Given the description of an element on the screen output the (x, y) to click on. 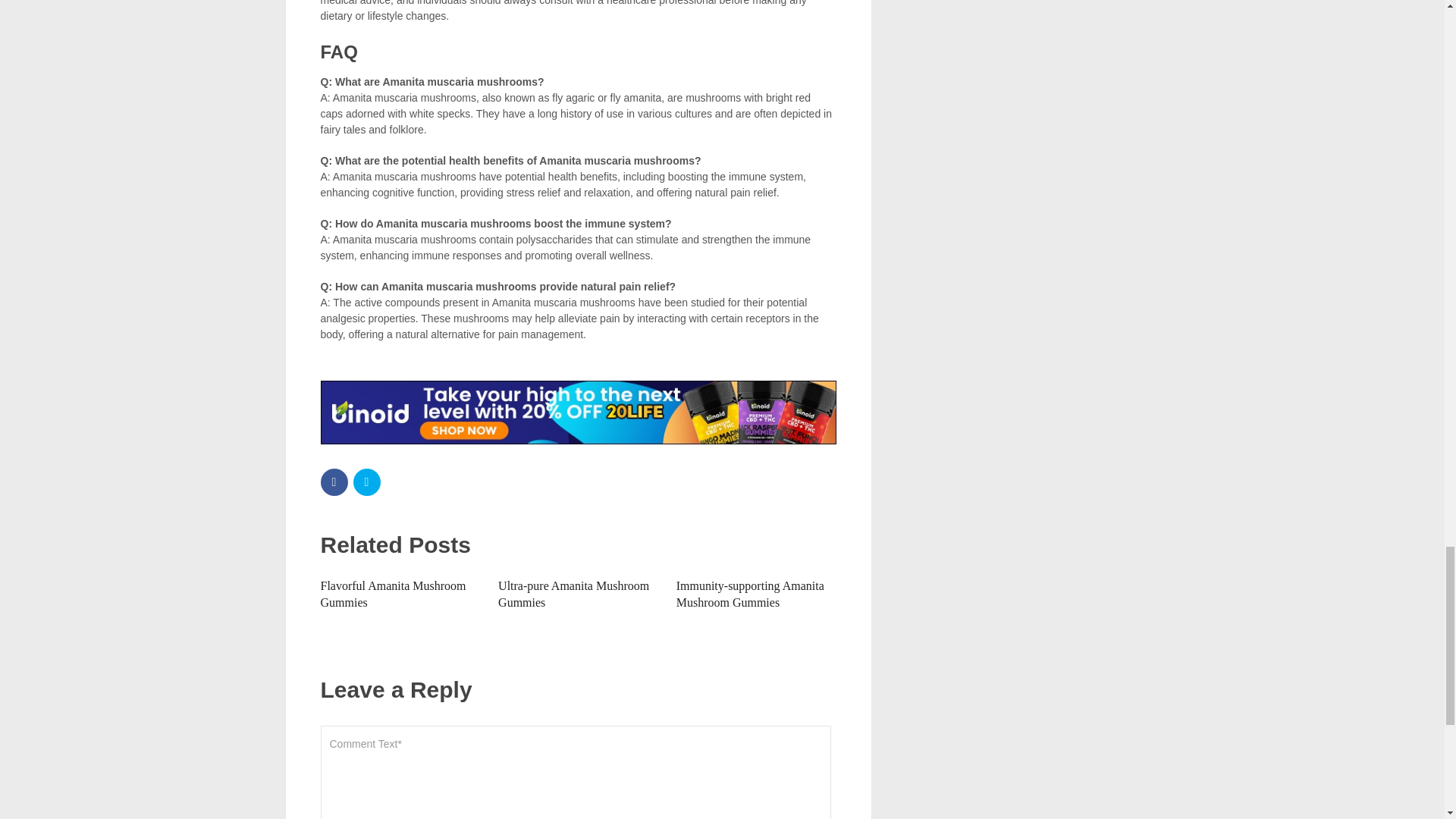
Immunity-supporting Amanita Mushroom Gummies (750, 594)
Immunity-supporting Amanita Mushroom Gummies (750, 594)
Ultra-pure Amanita Mushroom Gummies (573, 594)
Flavorful Amanita Mushroom Gummies (392, 594)
Ultra-pure Amanita Mushroom Gummies (573, 594)
Flavorful Amanita Mushroom Gummies (392, 594)
